Given the description of an element on the screen output the (x, y) to click on. 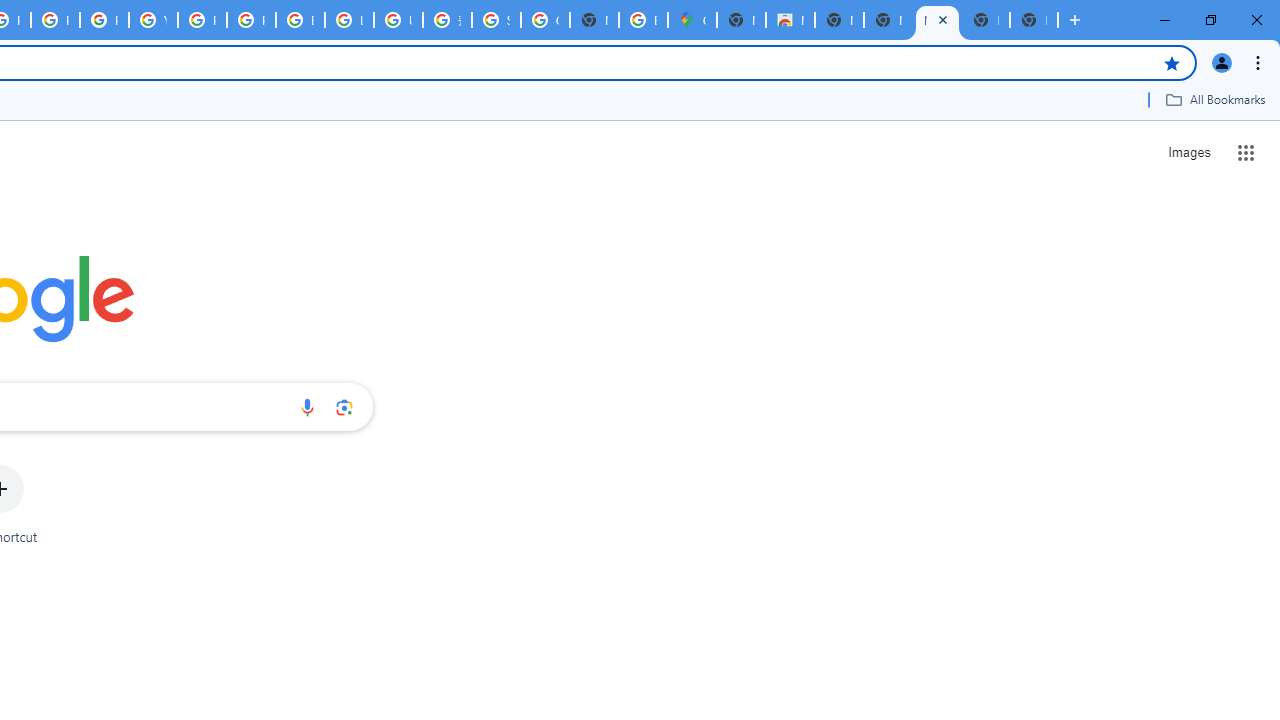
Explore new street-level details - Google Maps Help (643, 20)
YouTube (153, 20)
New Tab (1033, 20)
New Tab (985, 20)
